Given the description of an element on the screen output the (x, y) to click on. 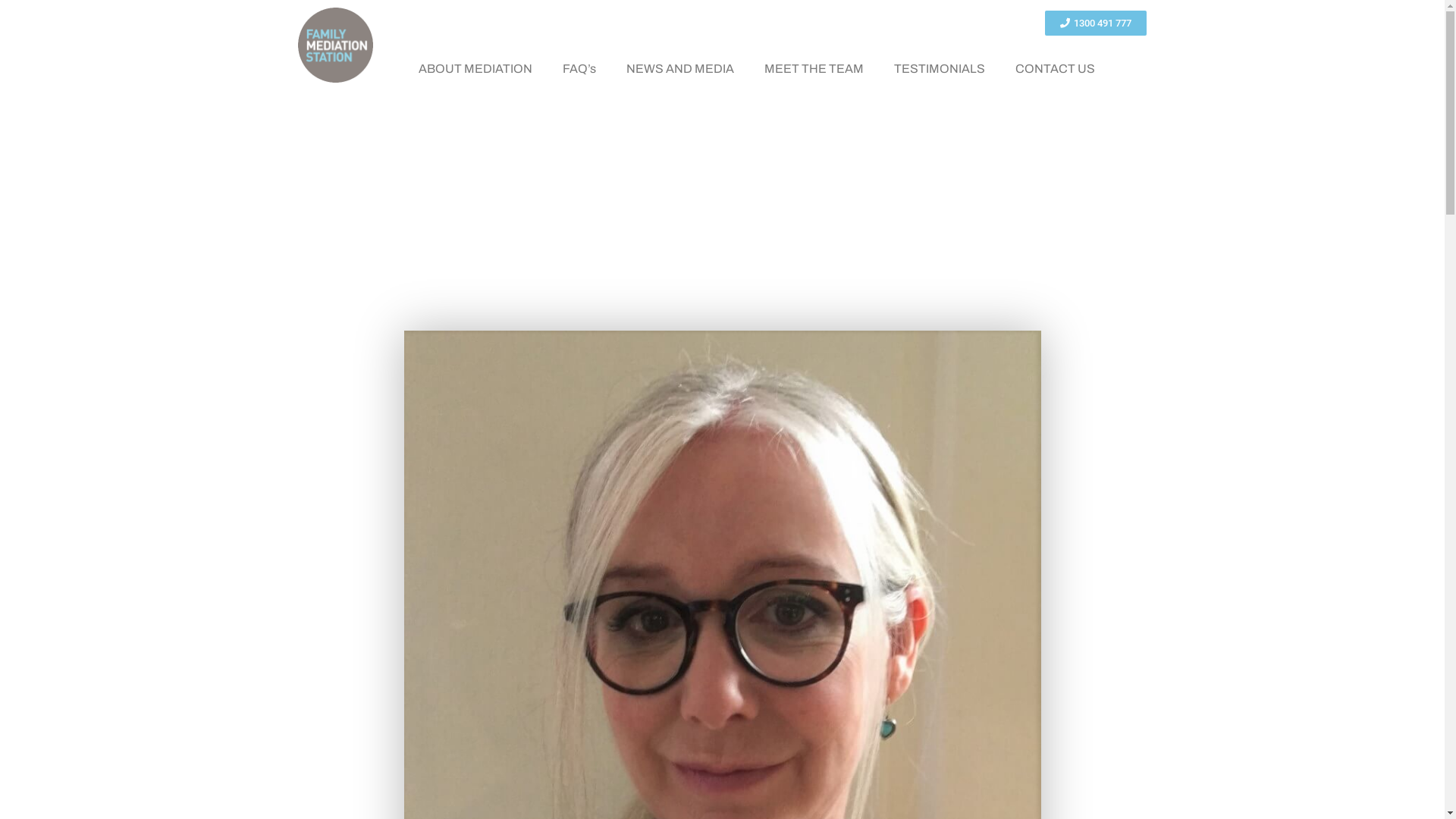
NEWS AND MEDIA Element type: text (680, 68)
TESTIMONIALS Element type: text (938, 68)
MEET THE TEAM Element type: text (813, 68)
ABOUT MEDIATION Element type: text (475, 68)
1300 491 777 Element type: text (1095, 22)
January 22, 2019 Element type: text (762, 234)
James Pollock Element type: text (674, 234)
CONTACT US Element type: text (1054, 68)
